Given the description of an element on the screen output the (x, y) to click on. 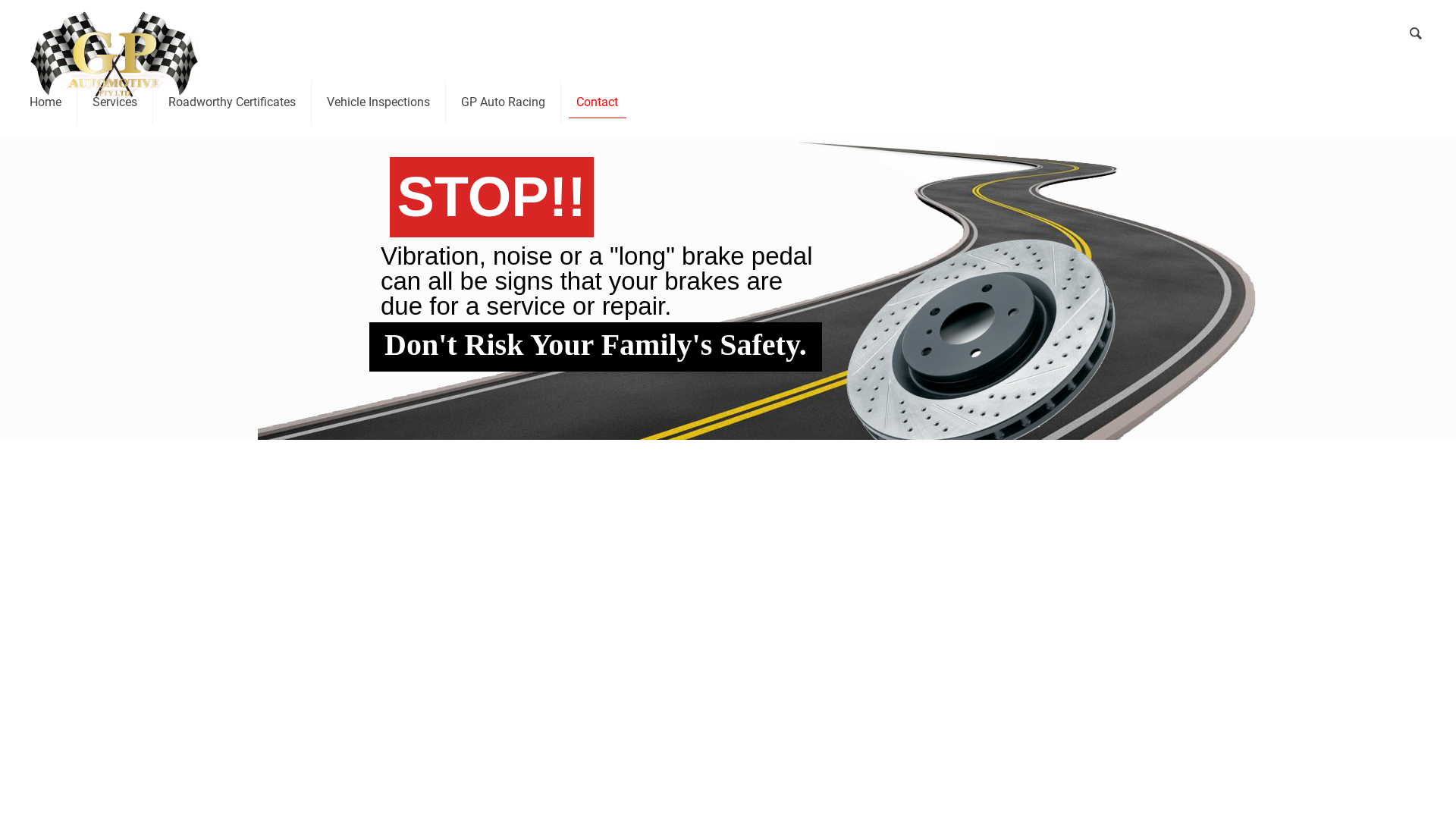
Vehicle Inspections Element type: text (378, 102)
Services Element type: text (115, 102)
GP Auto Racing Element type: text (503, 102)
Contact Element type: text (597, 102)
Home Element type: text (45, 102)
GP Automotive Element type: hover (113, 34)
Roadworthy Certificates Element type: text (232, 102)
